Given the description of an element on the screen output the (x, y) to click on. 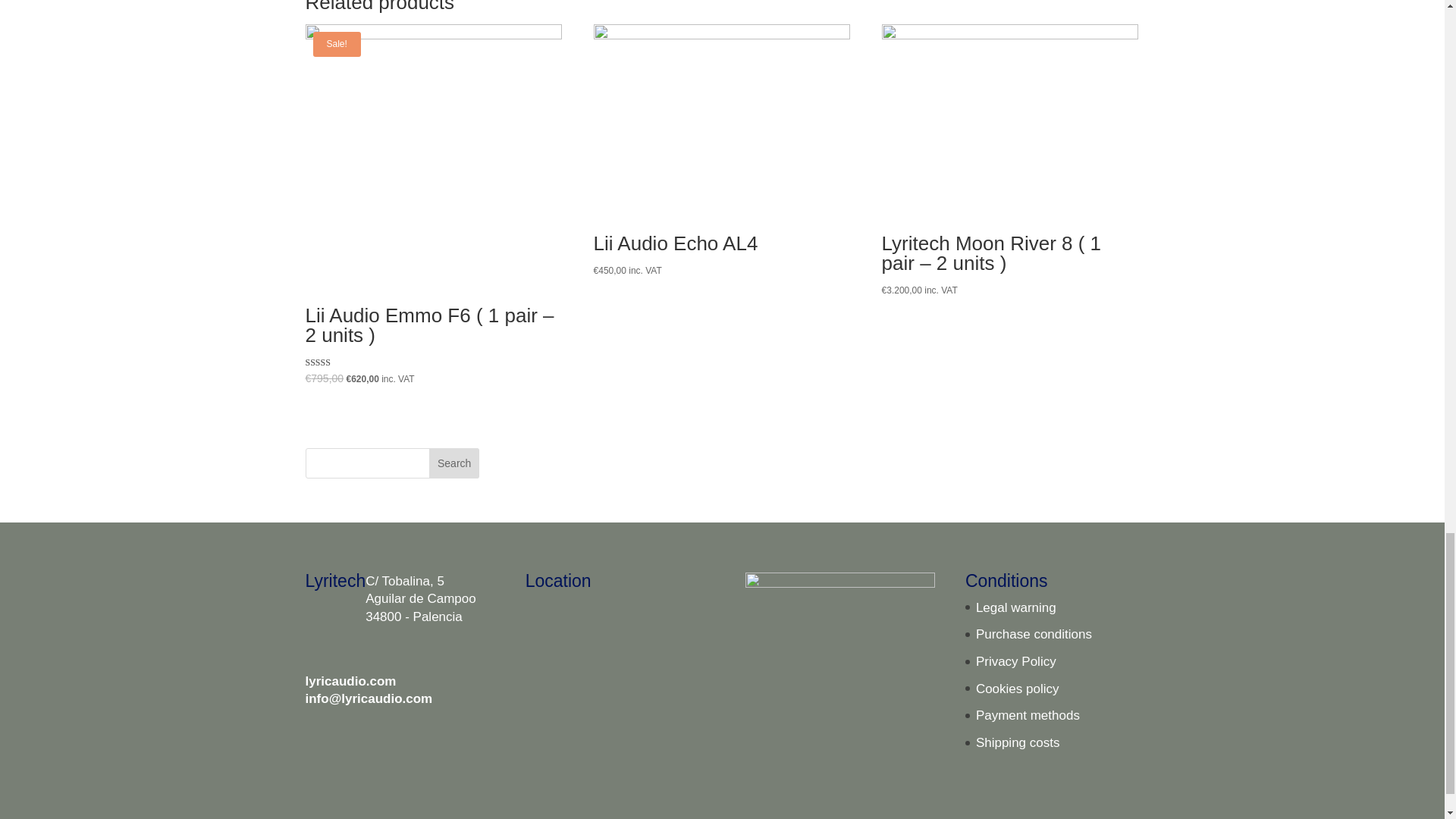
Legal warning (1016, 607)
Payment methods (1027, 715)
Privacy Policy (1016, 661)
Shipping costs (1017, 742)
lyricaudio.com (350, 681)
Purchase conditions (1033, 634)
Search (454, 462)
Cookies policy (1017, 688)
Search (454, 462)
